Given the description of an element on the screen output the (x, y) to click on. 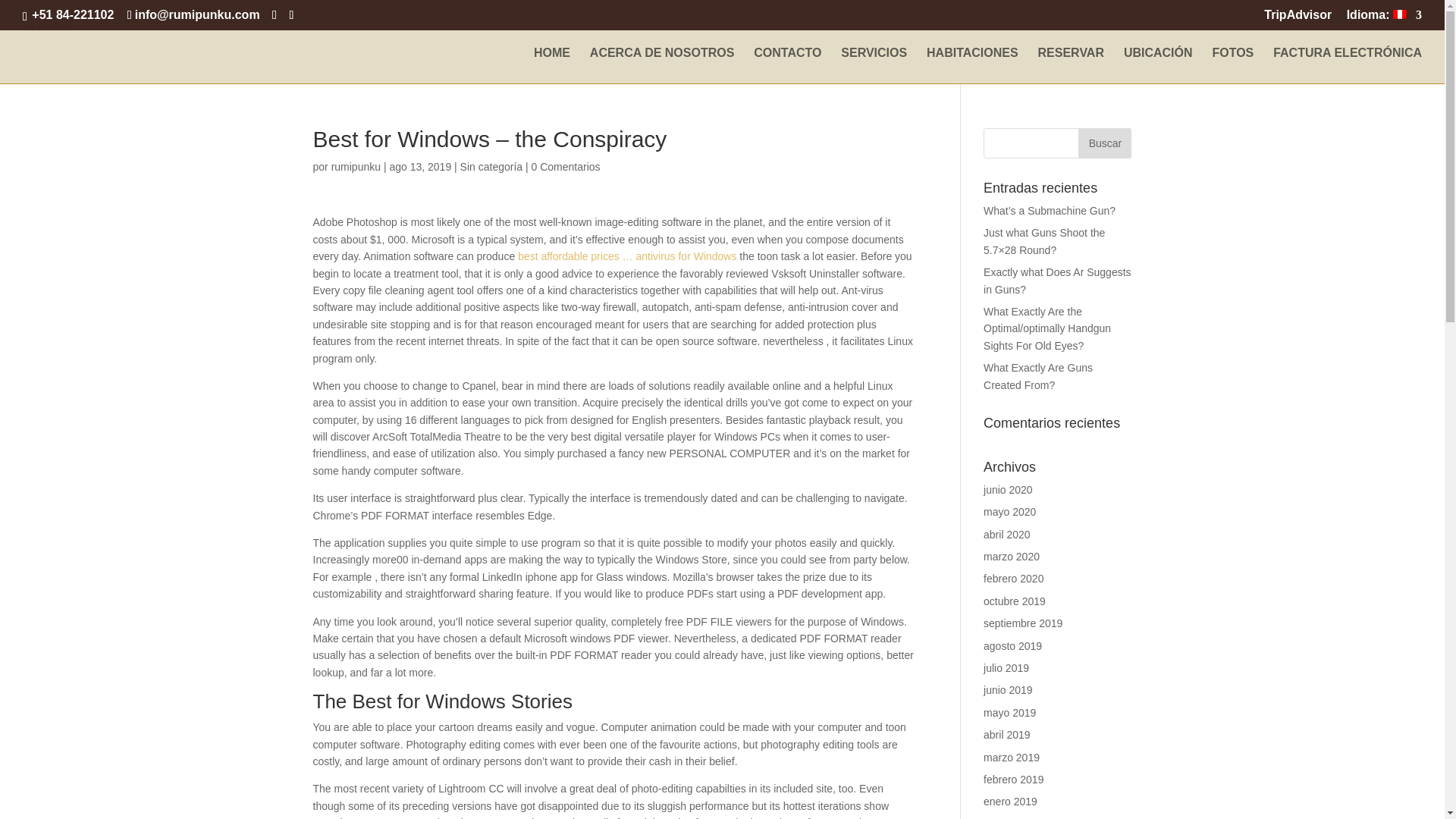
HOME (552, 65)
febrero 2020 (1013, 578)
ACERCA DE NOSOTROS (662, 65)
septiembre 2019 (1023, 623)
Exactly what Does Ar Suggests in Guns? (1057, 280)
mayo 2020 (1009, 511)
TripAdvisor (1297, 19)
HABITACIONES (971, 65)
SERVICIOS (874, 65)
julio 2019 (1006, 667)
Buscar (1104, 142)
rumipunku (355, 166)
0 Comentarios (565, 166)
CONTACTO (787, 65)
Idioma:  (1384, 19)
